Given the description of an element on the screen output the (x, y) to click on. 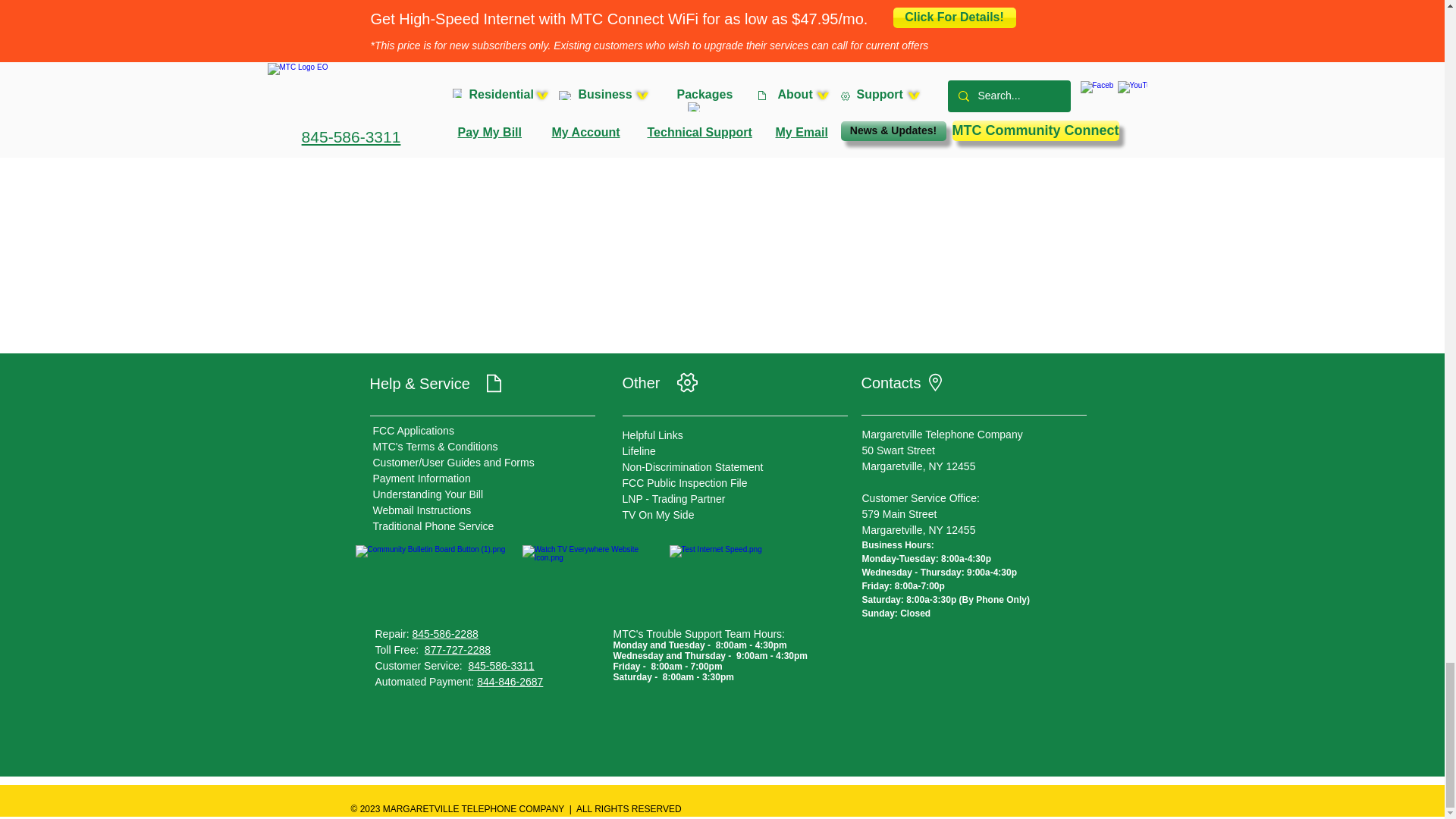
Webmail Instructions (421, 510)
Understanding Your Bill (427, 494)
Traditional Phone Service (433, 526)
Helpful Links (651, 435)
FCC Applications (413, 430)
itions (485, 446)
Payment Information (421, 478)
